Given the description of an element on the screen output the (x, y) to click on. 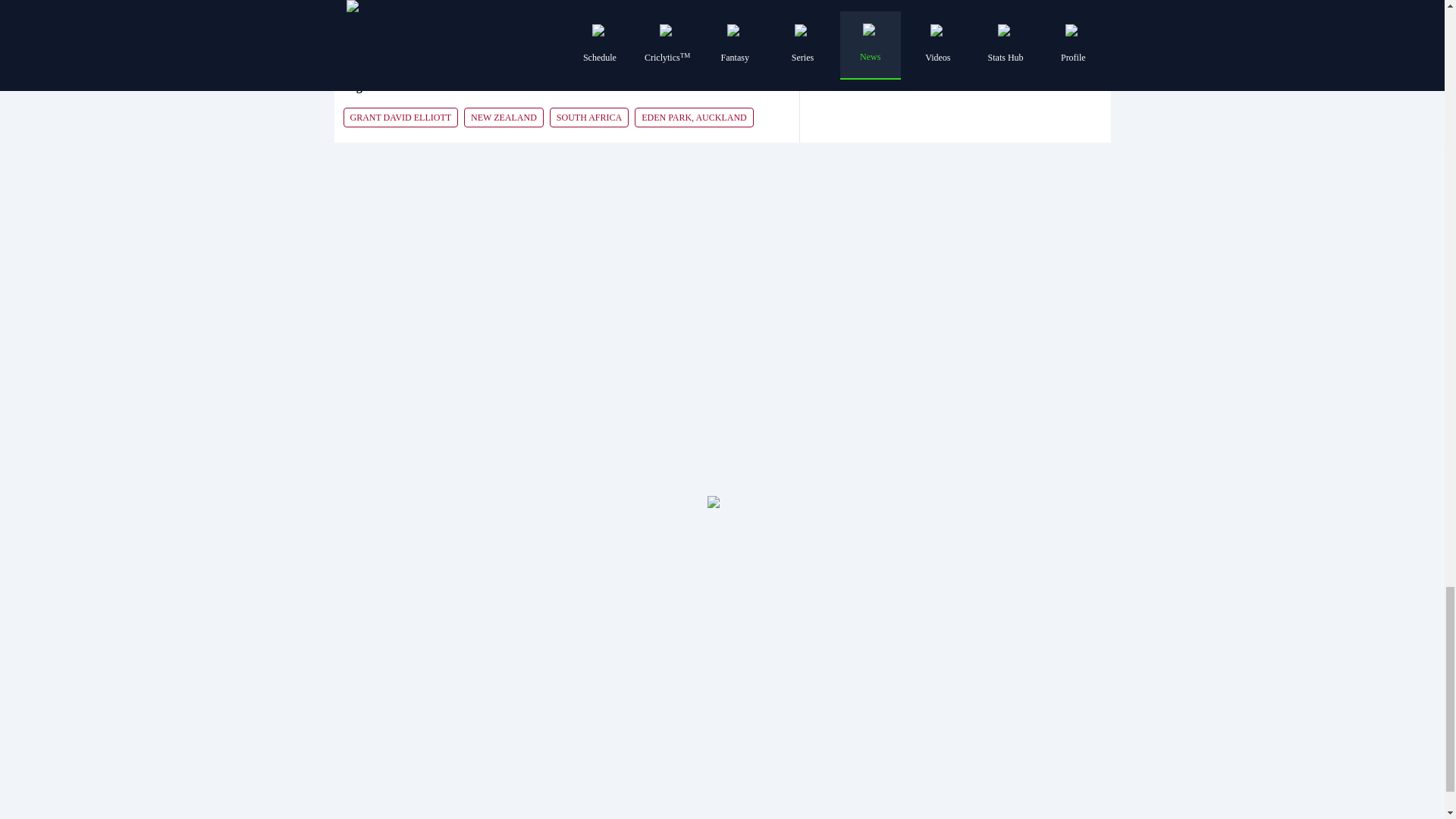
EDEN PARK, AUCKLAND (694, 117)
SOUTH AFRICA (589, 115)
NEW ZEALAND (503, 115)
SOUTH AFRICA (589, 117)
NEW ZEALAND (503, 117)
GRANT DAVID ELLIOTT (400, 117)
EDEN PARK, AUCKLAND (694, 115)
GRANT DAVID ELLIOTT (400, 115)
